Given the description of an element on the screen output the (x, y) to click on. 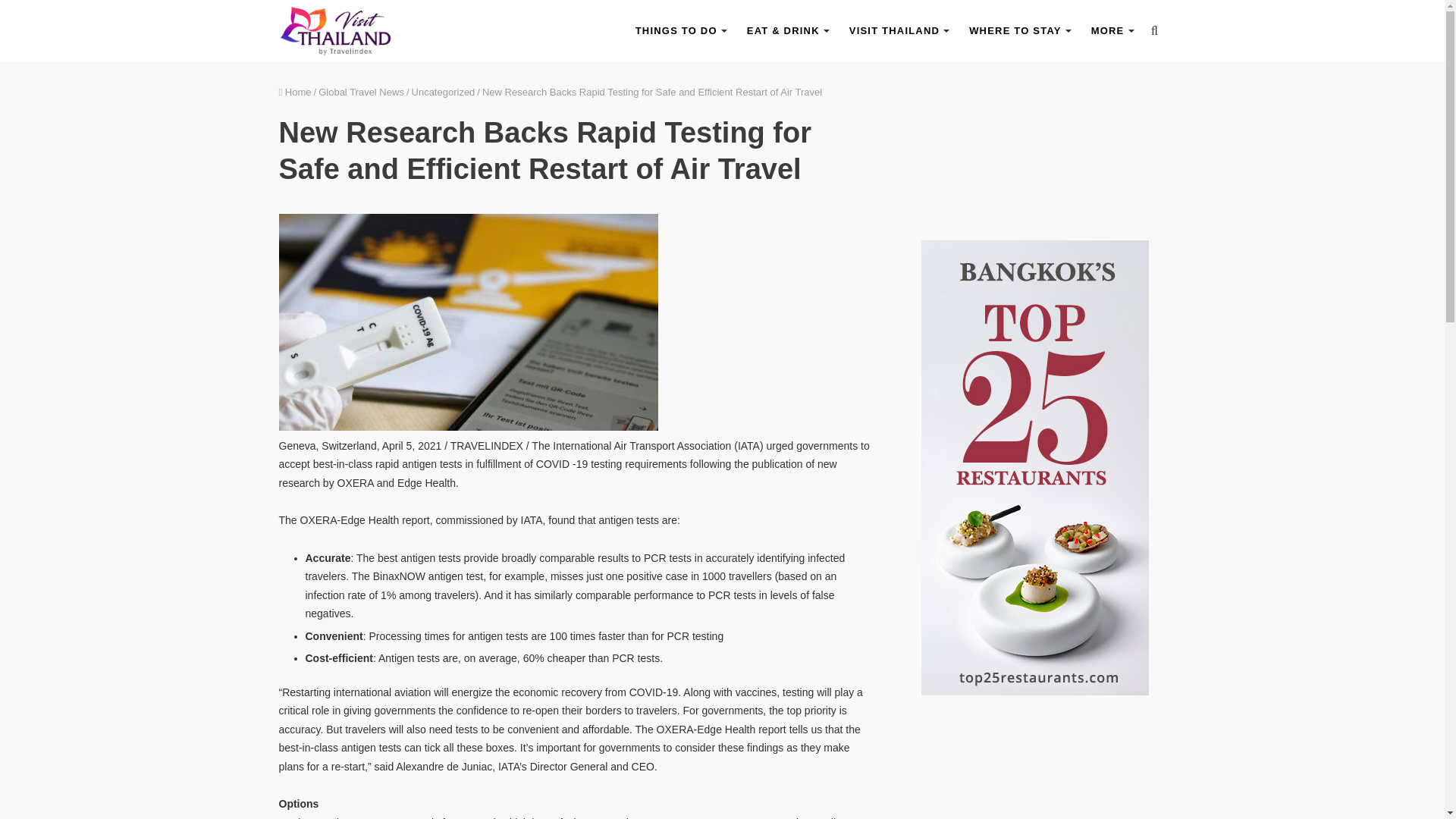
MORE (1111, 30)
Home (295, 91)
WHERE TO STAY (1019, 30)
Global Travel News (361, 91)
VISIT THAILAND (898, 30)
Visit and Discover Thailand - VisitThailand.net (336, 30)
Uncategorized (444, 91)
THINGS TO DO (680, 30)
